Given the description of an element on the screen output the (x, y) to click on. 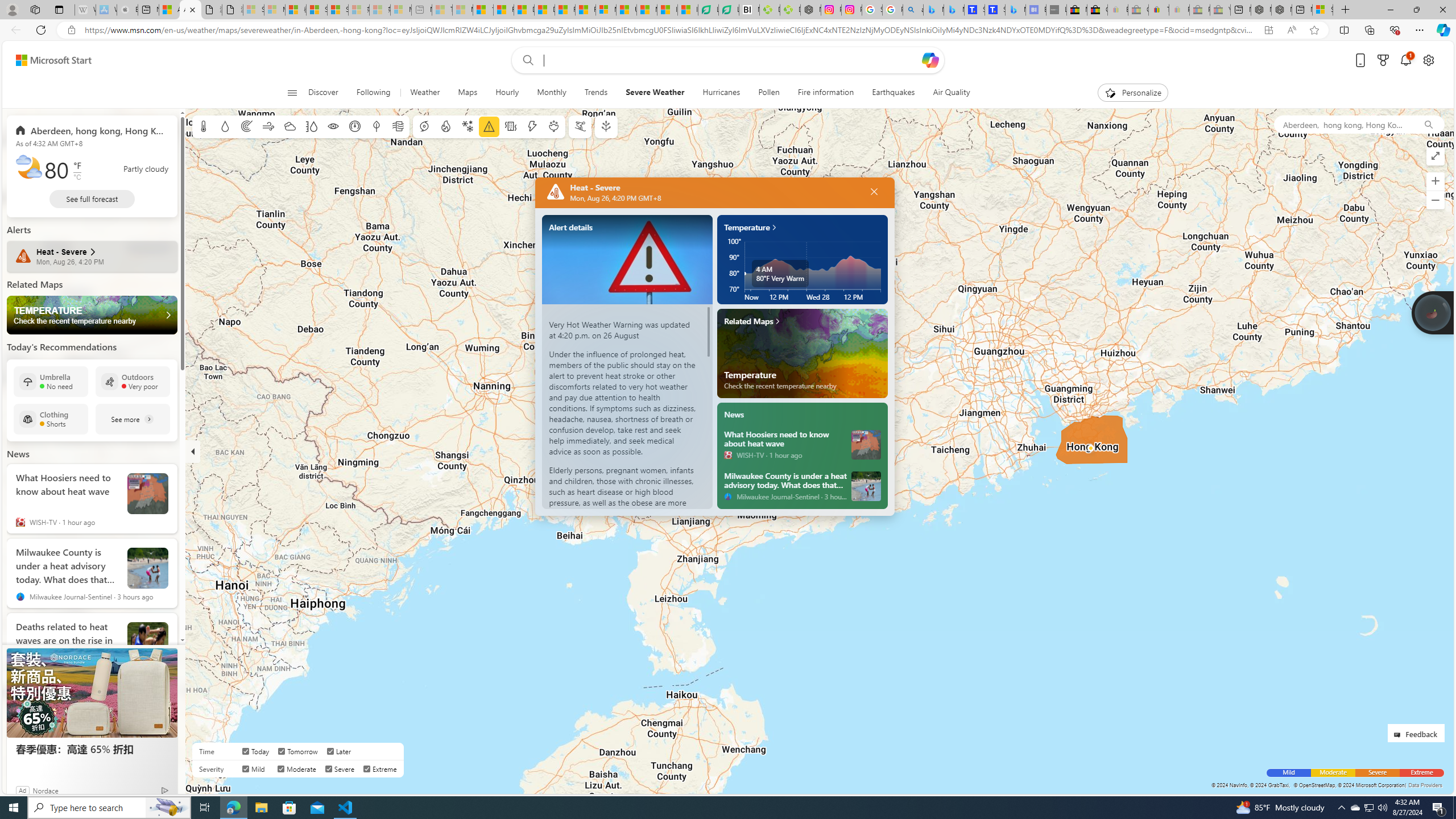
Nordace - Summer Adventures 2024 (1281, 9)
Dew point (376, 126)
Threats and offensive language policy | eBay (1158, 9)
Aberdeen, hong kong, Hong Kong SAR (1342, 124)
Hourly (507, 92)
Temperature (203, 126)
Payments Terms of Use | eBay.com - Sleeping (1178, 9)
Monthly (551, 92)
